Given the description of an element on the screen output the (x, y) to click on. 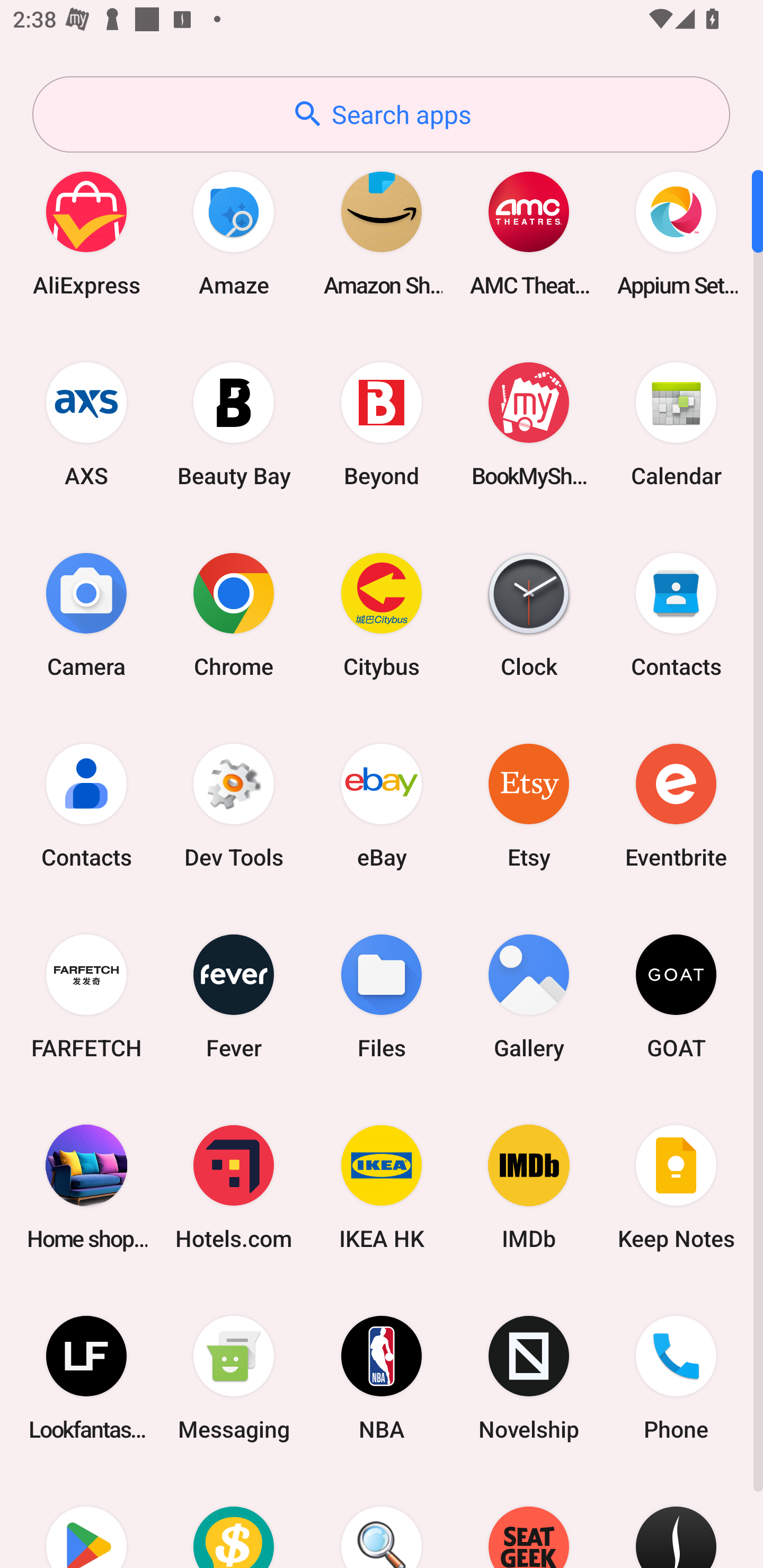
  Search apps (381, 114)
AliExpress (86, 233)
Amaze (233, 233)
Amazon Shopping (381, 233)
AMC Theatres (528, 233)
Appium Settings (676, 233)
AXS (86, 424)
Beauty Bay (233, 424)
Beyond (381, 424)
BookMyShow (528, 424)
Calendar (676, 424)
Camera (86, 614)
Chrome (233, 614)
Citybus (381, 614)
Clock (528, 614)
Contacts (676, 614)
Contacts (86, 805)
Dev Tools (233, 805)
eBay (381, 805)
Etsy (528, 805)
Eventbrite (676, 805)
FARFETCH (86, 996)
Fever (233, 996)
Files (381, 996)
Gallery (528, 996)
GOAT (676, 996)
Home shopping (86, 1186)
Hotels.com (233, 1186)
IKEA HK (381, 1186)
IMDb (528, 1186)
Keep Notes (676, 1186)
Lookfantastic (86, 1377)
Messaging (233, 1377)
NBA (381, 1377)
Novelship (528, 1377)
Phone (676, 1377)
Play Store (86, 1520)
Price (233, 1520)
Search (381, 1520)
SeatGeek (528, 1520)
Sephora (676, 1520)
